Given the description of an element on the screen output the (x, y) to click on. 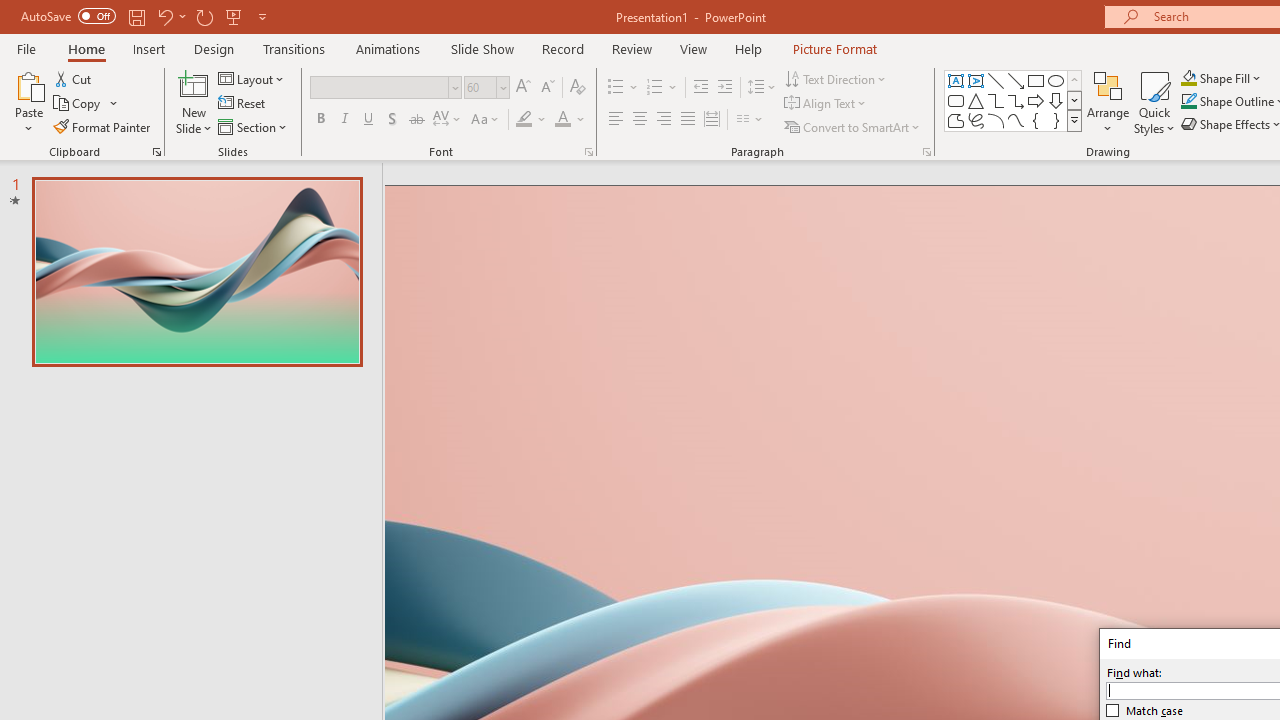
Align Right (663, 119)
Font Color Red (562, 119)
Center (639, 119)
Oval (1055, 80)
Shape Outline Blue, Accent 1 (1188, 101)
Paragraph... (926, 151)
Align Text (826, 103)
